Given the description of an element on the screen output the (x, y) to click on. 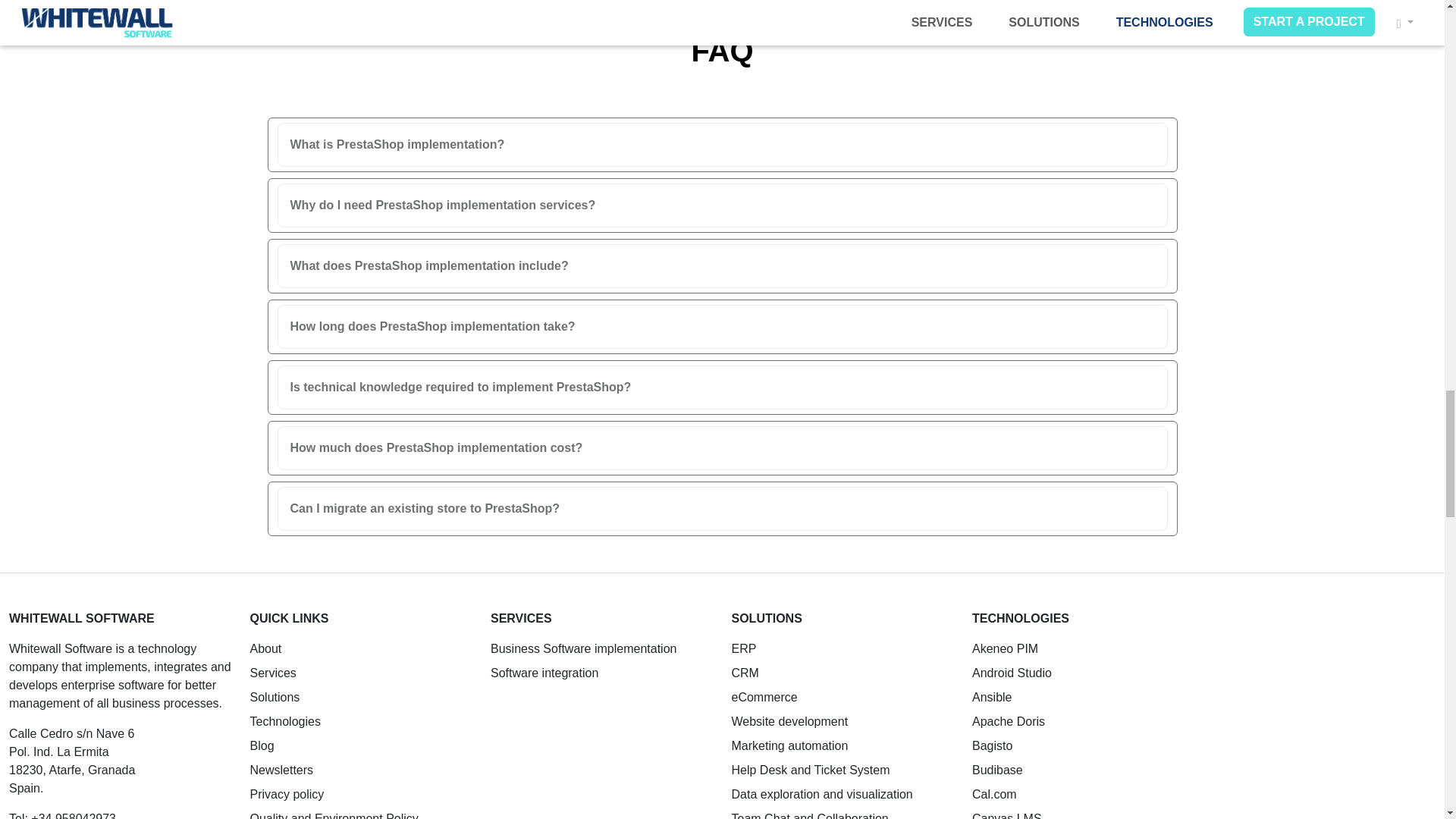
Services (273, 672)
Blog (262, 745)
CRM (744, 672)
Can I migrate an existing store to PrestaShop? (721, 508)
Quality and Environment Policy (334, 815)
Why do I need PrestaShop implementation services? (721, 205)
Marketing automation (788, 745)
Privacy policy (287, 793)
How much does PrestaShop implementation cost? (721, 447)
Website development (788, 721)
Software integration (544, 672)
Is technical knowledge required to implement PrestaShop? (721, 387)
How long does PrestaShop implementation take? (721, 326)
Business Software implementation (583, 648)
What does PrestaShop implementation include? (721, 266)
